Given the description of an element on the screen output the (x, y) to click on. 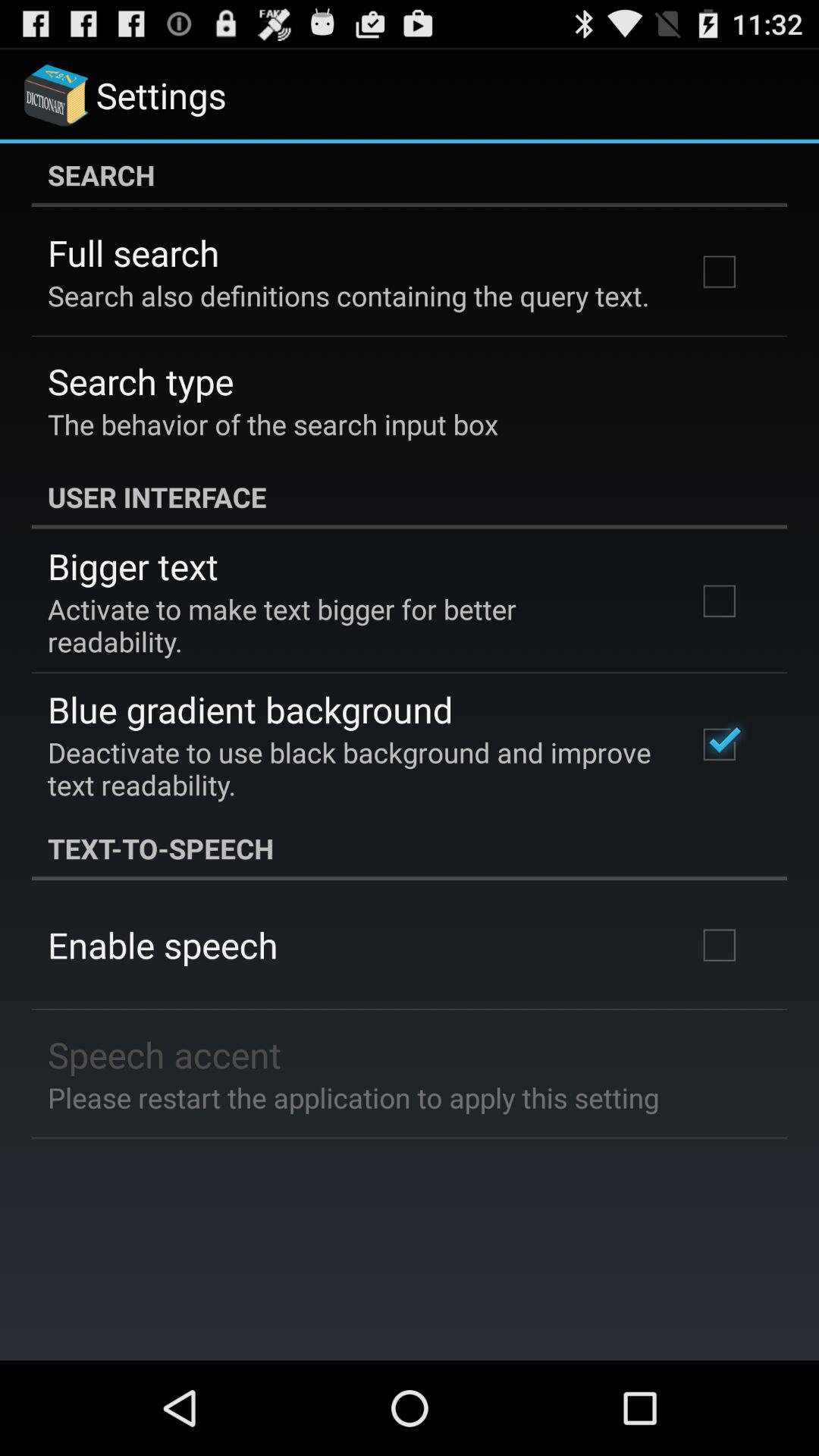
select the full search item (133, 252)
